Given the description of an element on the screen output the (x, y) to click on. 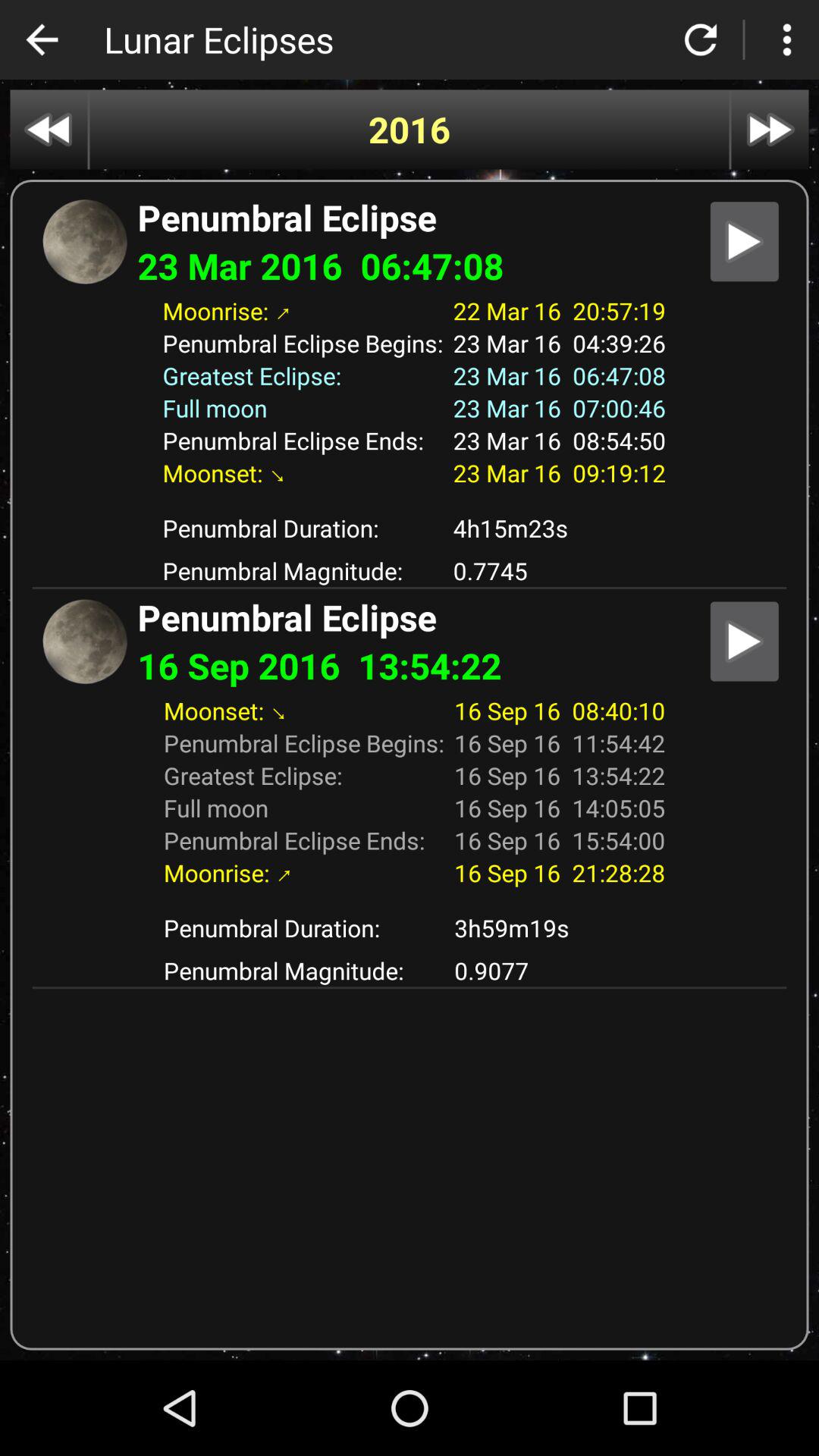
refresh (700, 39)
